Given the description of an element on the screen output the (x, y) to click on. 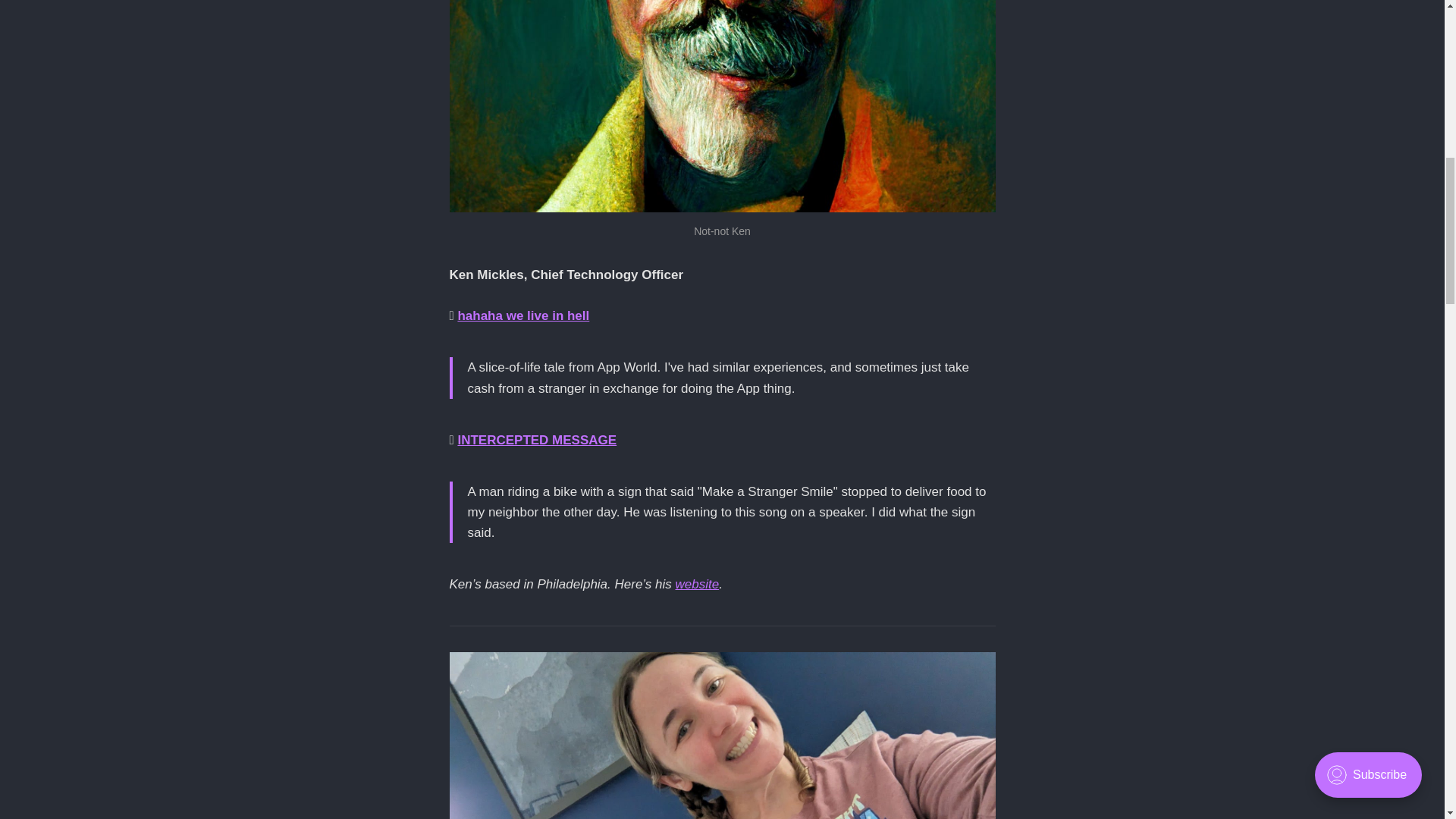
INTERCEPTED MESSAGE (536, 440)
hahaha we live in hell (523, 315)
website (697, 584)
